Given the description of an element on the screen output the (x, y) to click on. 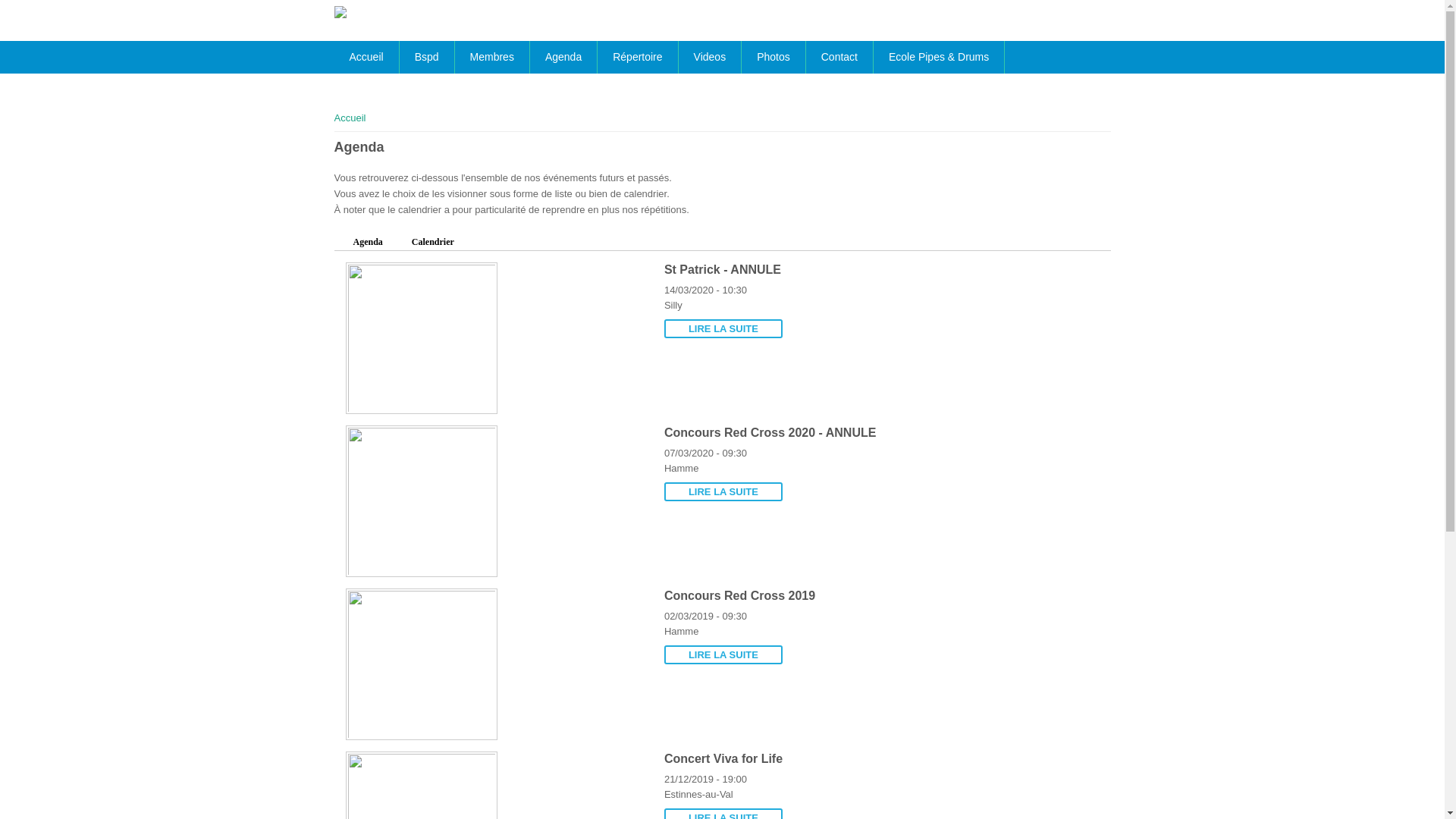
Videos Element type: text (709, 56)
Bspd Element type: text (426, 56)
Agenda Element type: text (563, 56)
Calendrier Element type: text (432, 242)
LIRE LA SUITE Element type: text (723, 654)
LIRE LA SUITE Element type: text (723, 328)
Ecole Pipes & Drums Element type: text (938, 56)
Photos Element type: text (773, 56)
LIRE LA SUITE Element type: text (723, 491)
Agenda Element type: text (367, 242)
Contact Element type: text (839, 56)
Accueil Element type: hover (339, 12)
Membres Element type: text (492, 56)
Accueil Element type: text (349, 117)
Accueil Element type: text (365, 56)
